Given the description of an element on the screen output the (x, y) to click on. 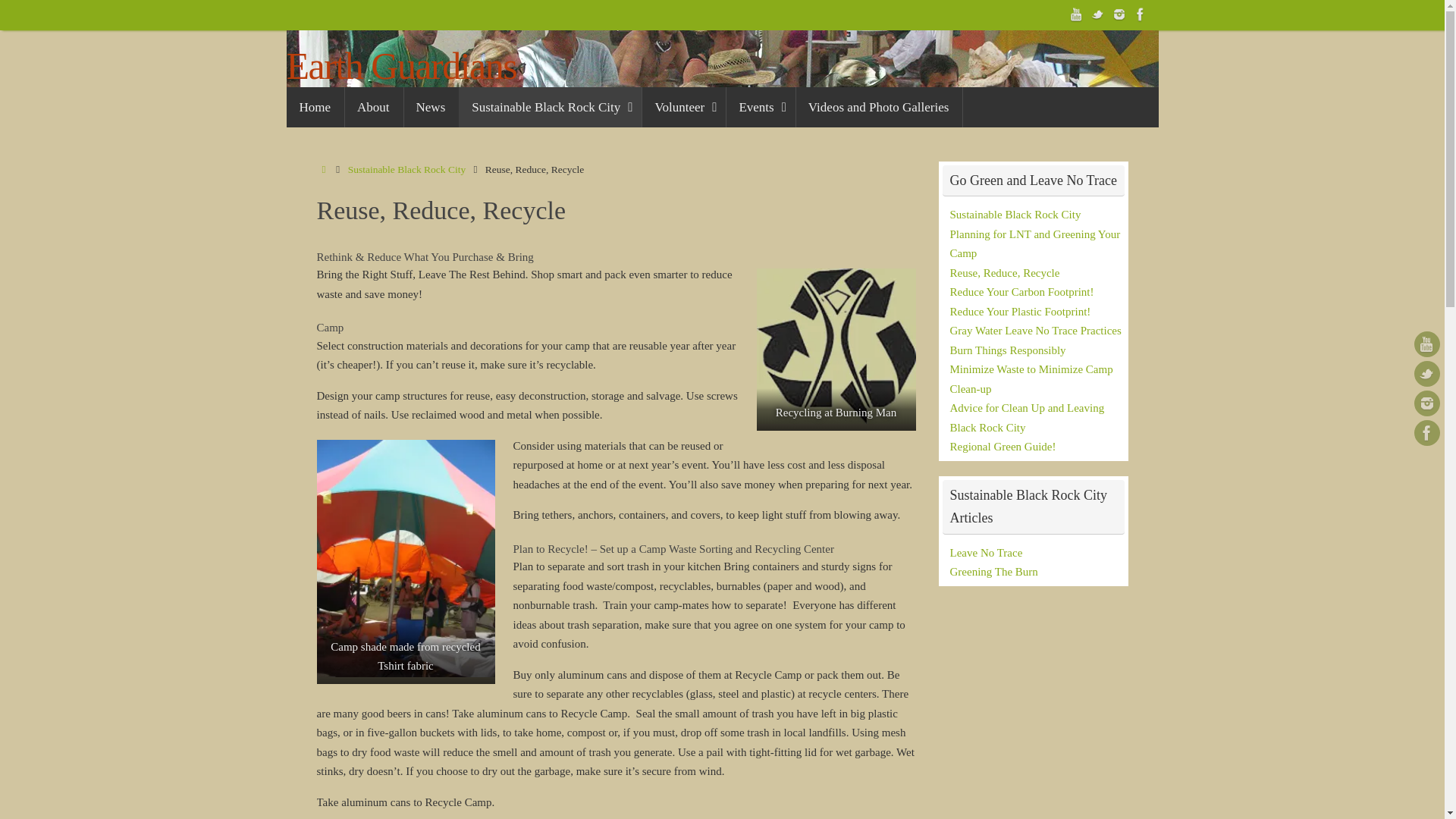
News (431, 106)
Twitter: BM Earth Guardians (1097, 14)
Home (315, 106)
Burn Things Responsibly (1007, 349)
Events (759, 106)
Burning Man You Tube (1076, 14)
Earth Guardians (401, 65)
Advice for Clean Up and Leaving Black Rock City (1026, 418)
Instagram: Earth Guardians (1118, 14)
About (373, 106)
